Given the description of an element on the screen output the (x, y) to click on. 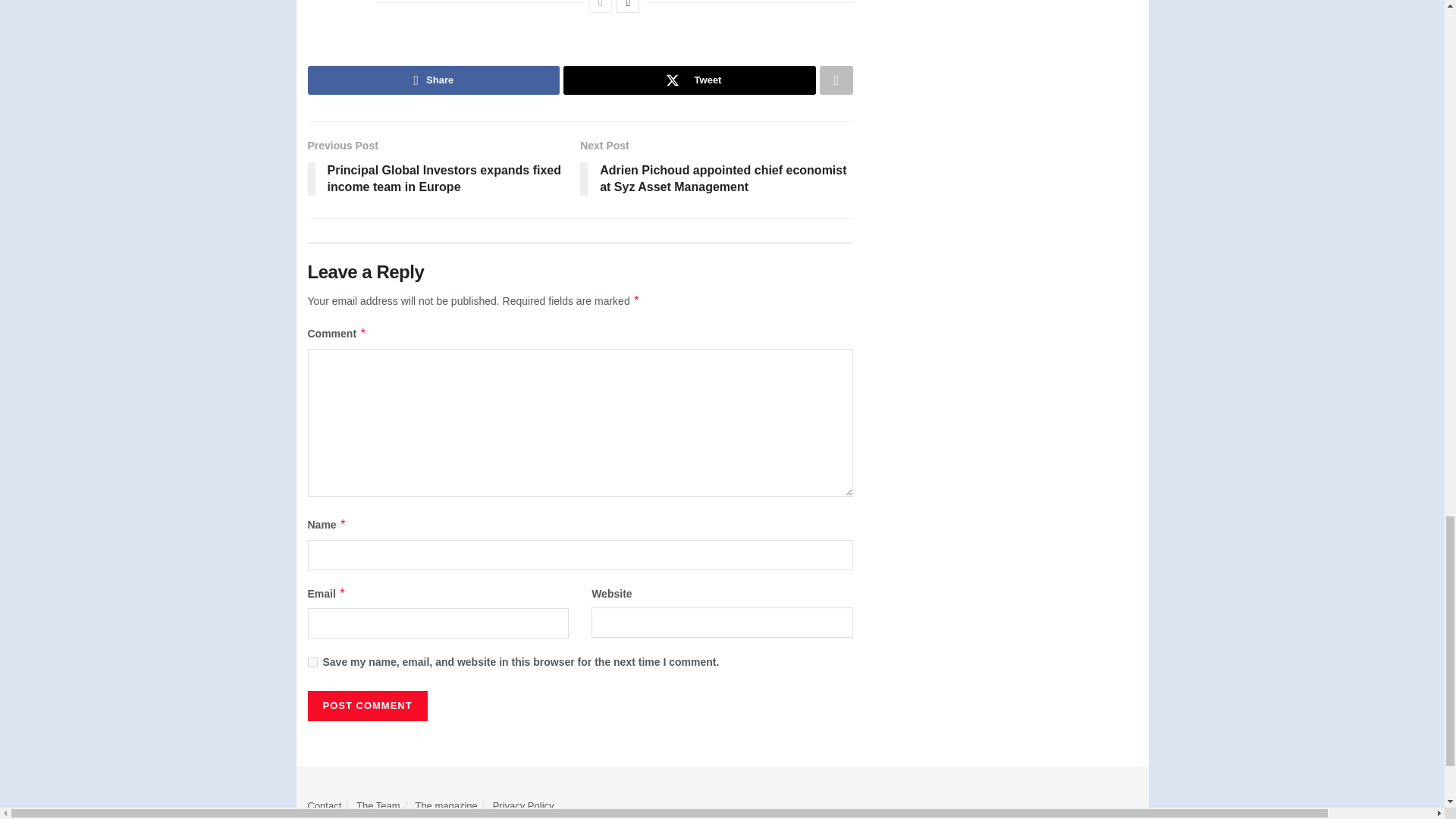
Next (627, 6)
Previous (600, 6)
Post Comment (367, 706)
yes (312, 662)
